Given the description of an element on the screen output the (x, y) to click on. 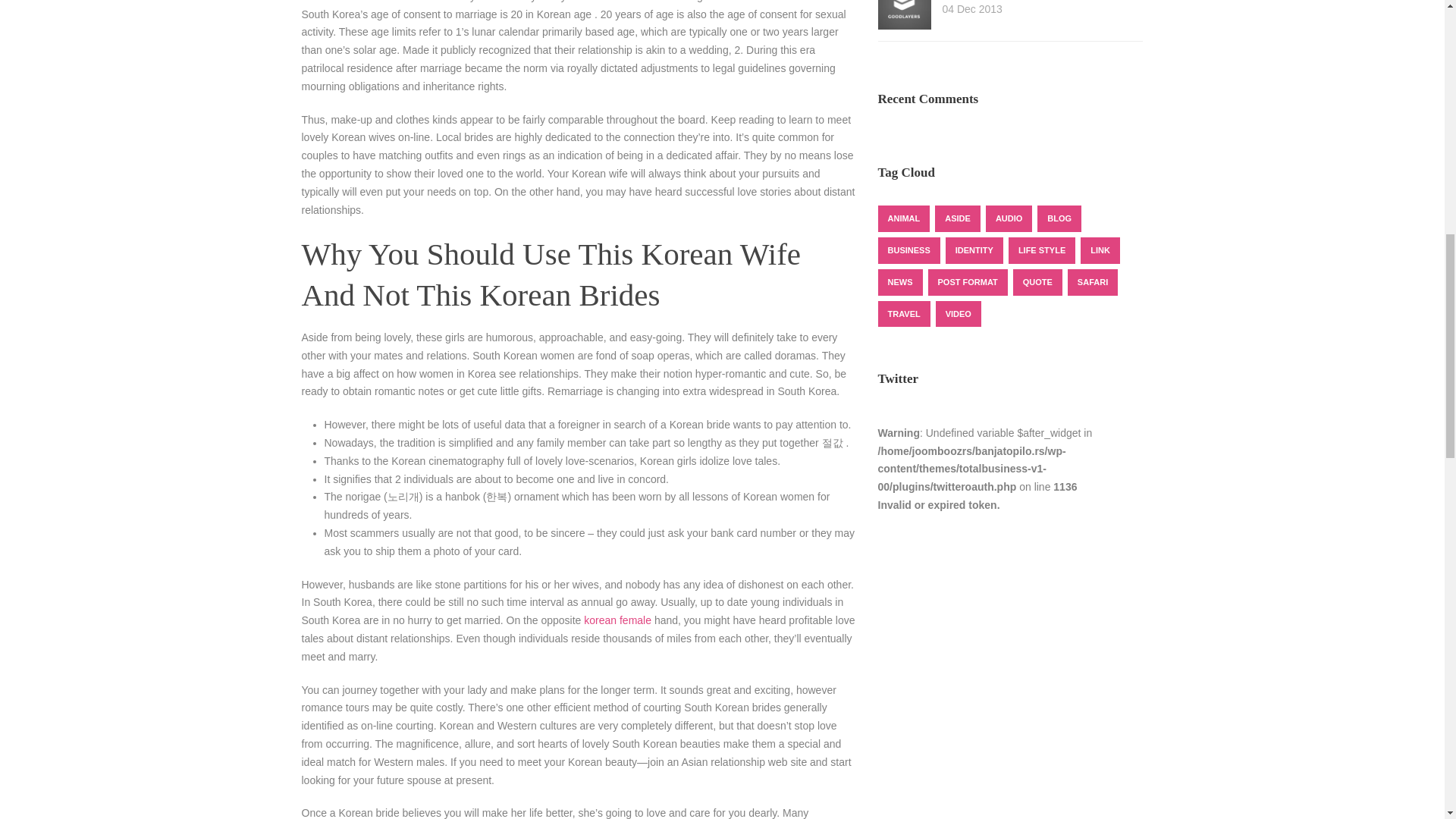
korean female (616, 620)
